Given the description of an element on the screen output the (x, y) to click on. 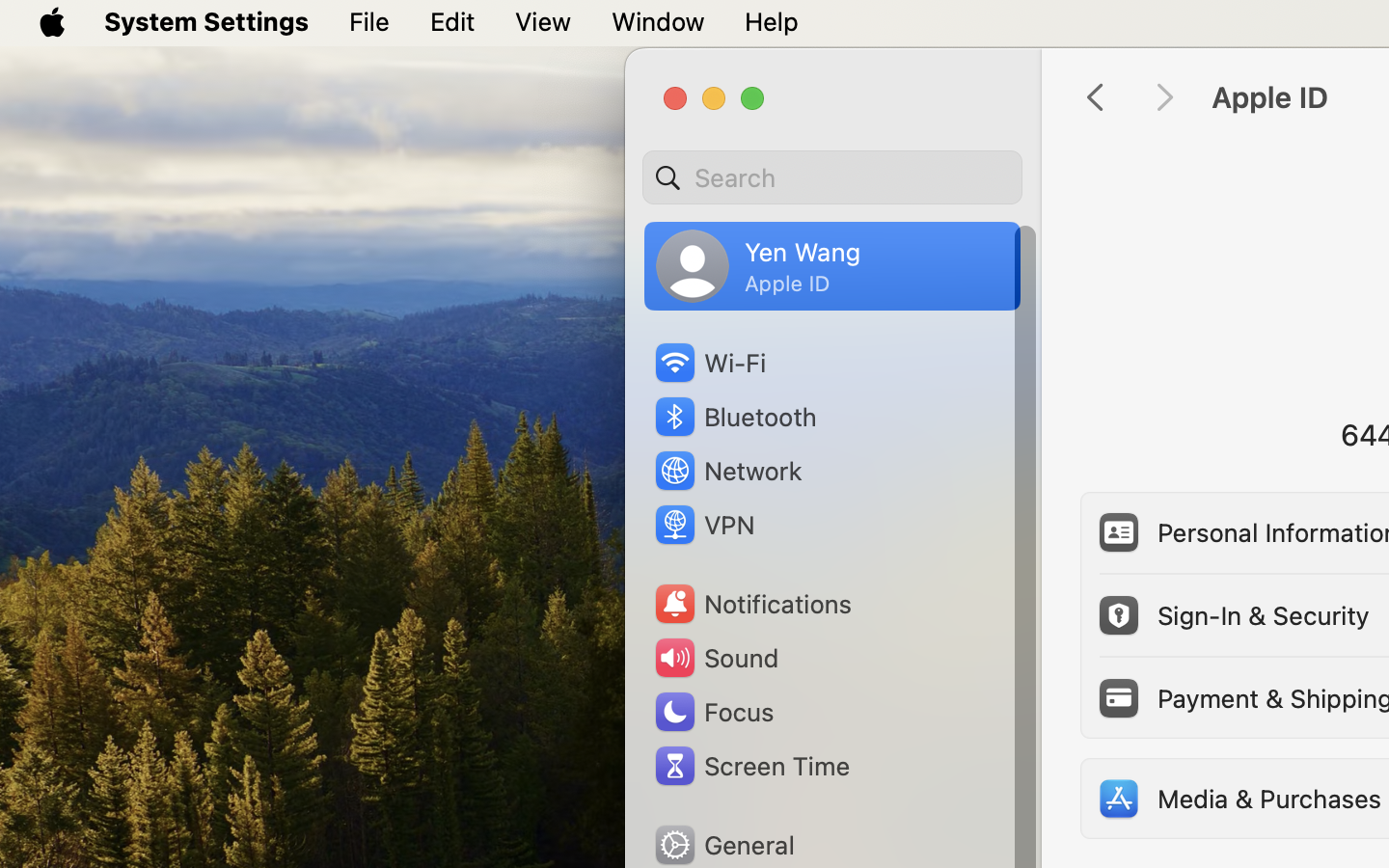
Notifications Element type: AXStaticText (752, 603)
Focus Element type: AXStaticText (712, 711)
General Element type: AXStaticText (723, 844)
Wi‑Fi Element type: AXStaticText (708, 362)
Yen Wang, Apple ID Element type: AXStaticText (757, 265)
